Given the description of an element on the screen output the (x, y) to click on. 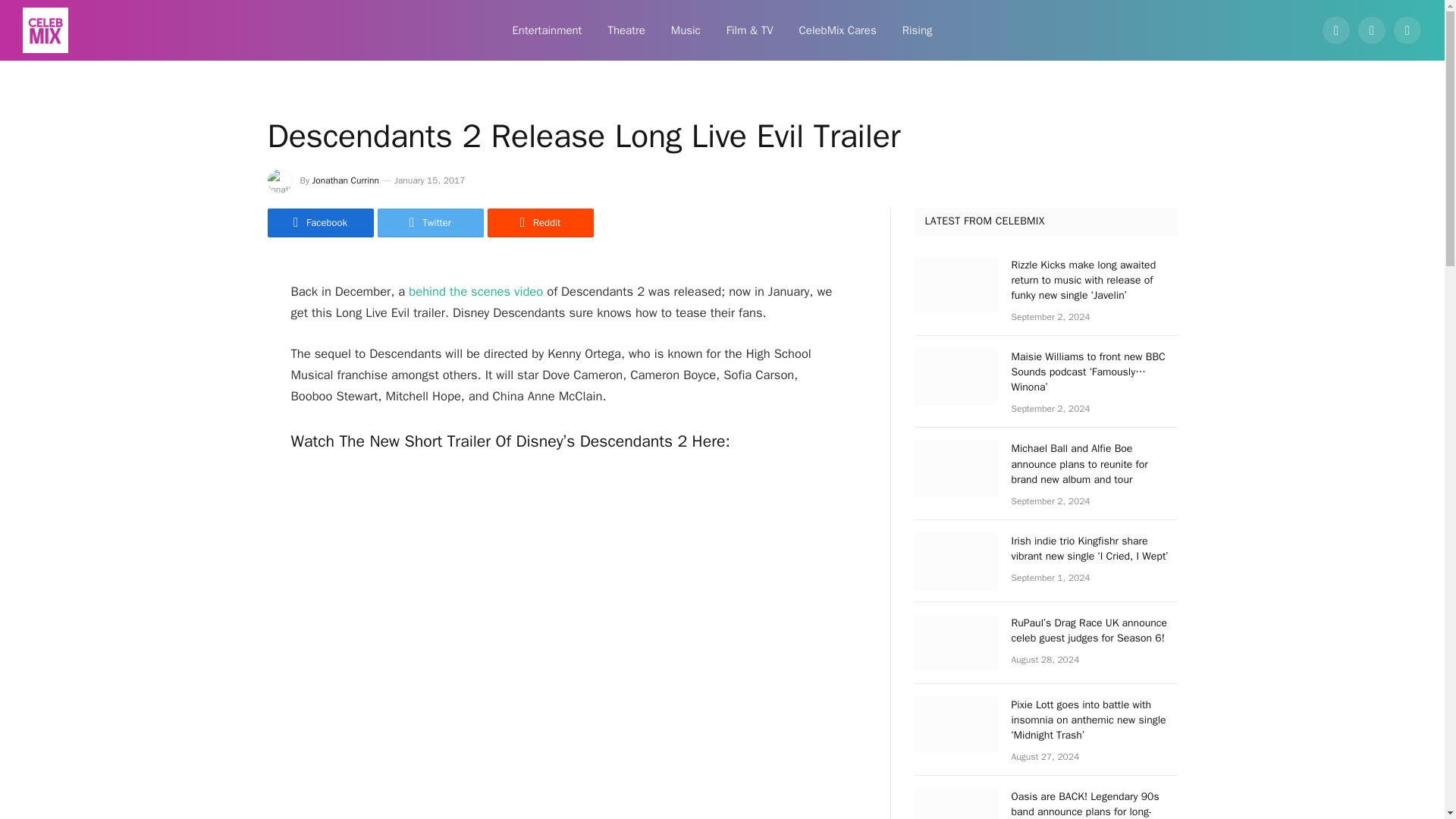
Reddit (539, 222)
Facebook (319, 222)
Share on Facebook (319, 222)
Theatre (626, 30)
CelebMix Cares (837, 30)
behind the scenes video (476, 291)
Twitter (430, 222)
Facebook (1336, 30)
Entertainment (546, 30)
Music (685, 30)
